Given the description of an element on the screen output the (x, y) to click on. 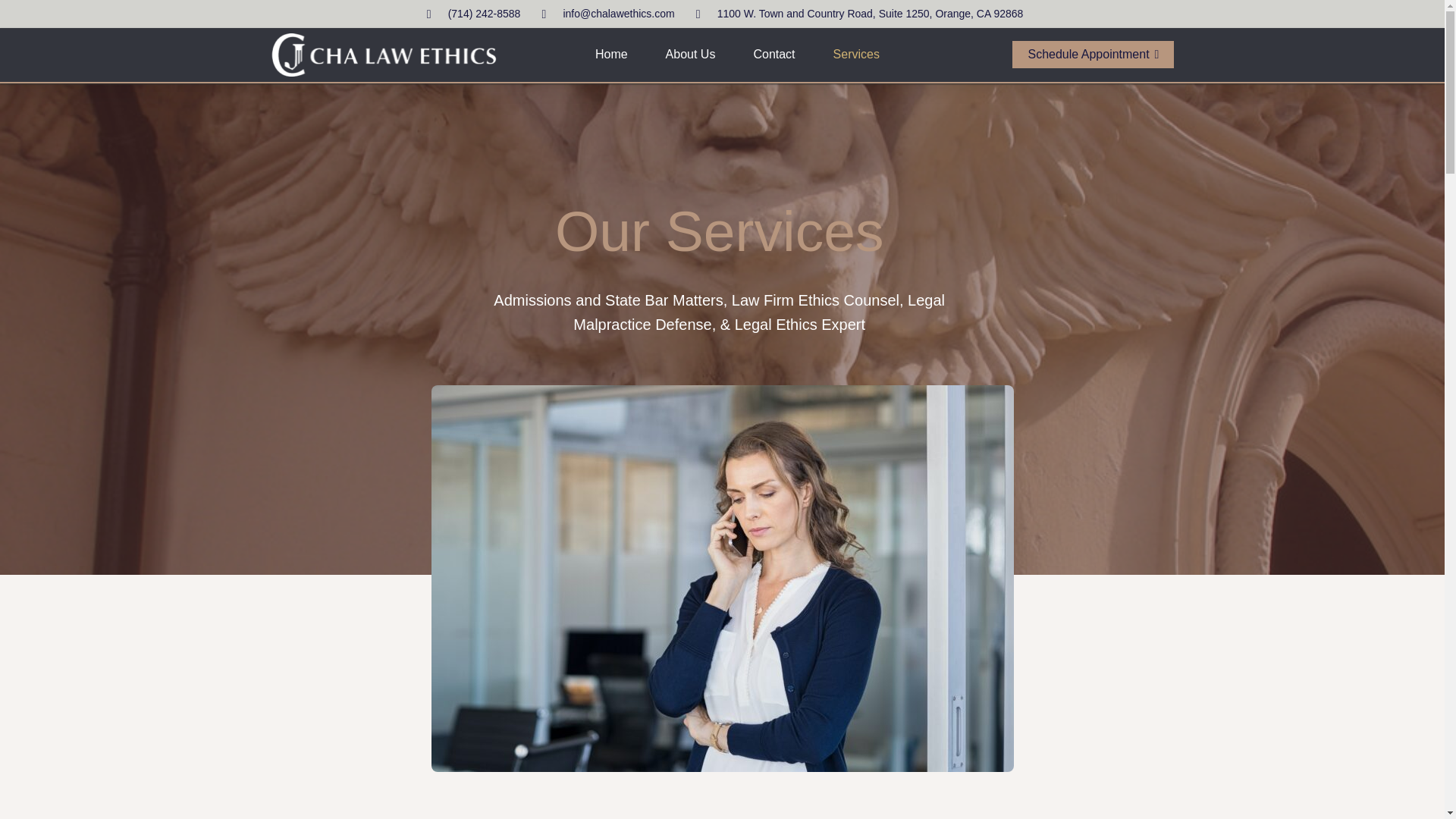
1100 W. Town and Country Road, Suite 1250, Orange, CA 92868 (856, 13)
Home (611, 54)
Services (855, 54)
Schedule Appointment (1092, 53)
Contact (773, 54)
About Us (690, 54)
